Given the description of an element on the screen output the (x, y) to click on. 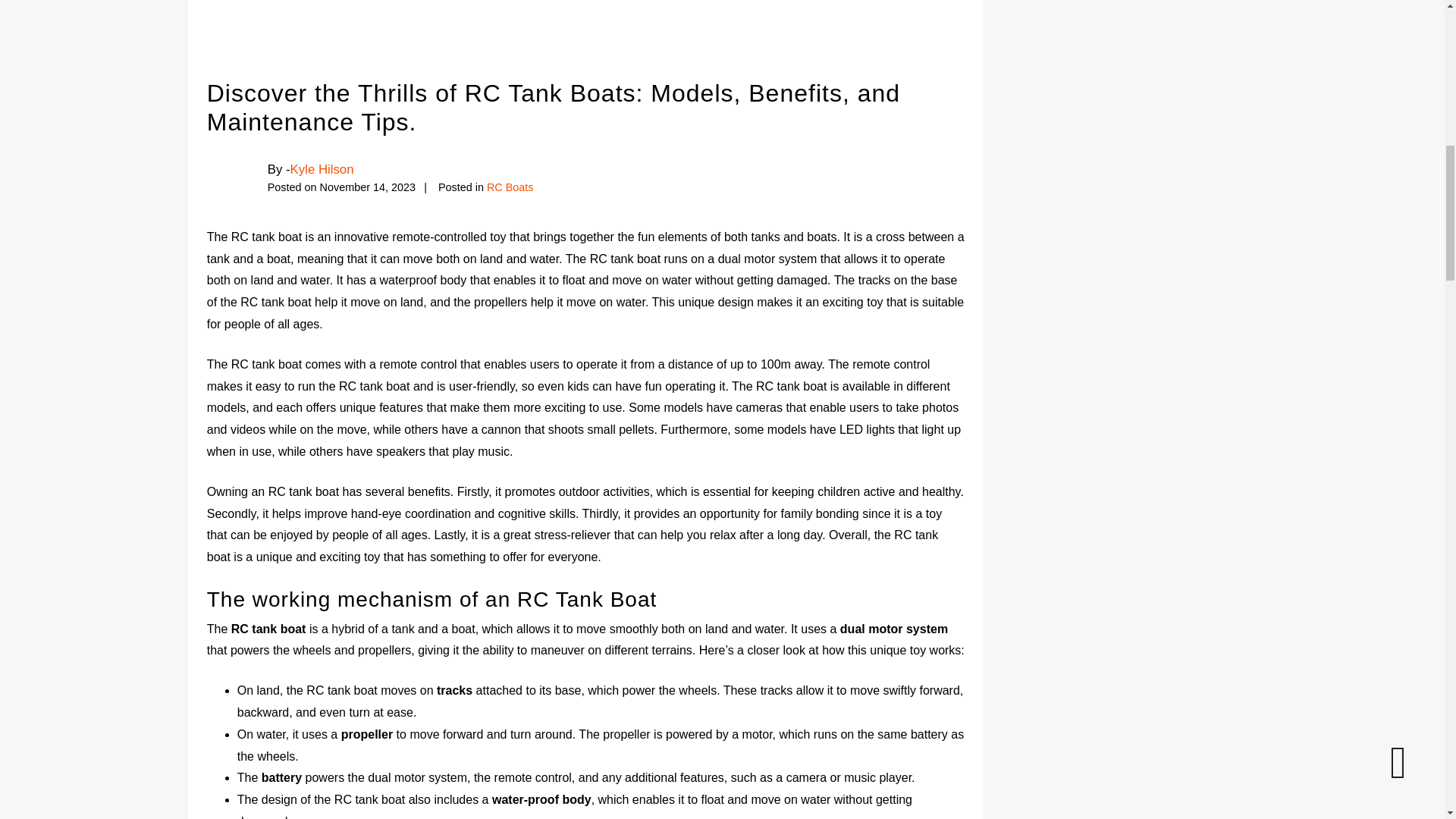
RC Boats (510, 186)
Kyle Hilson (321, 169)
